Given the description of an element on the screen output the (x, y) to click on. 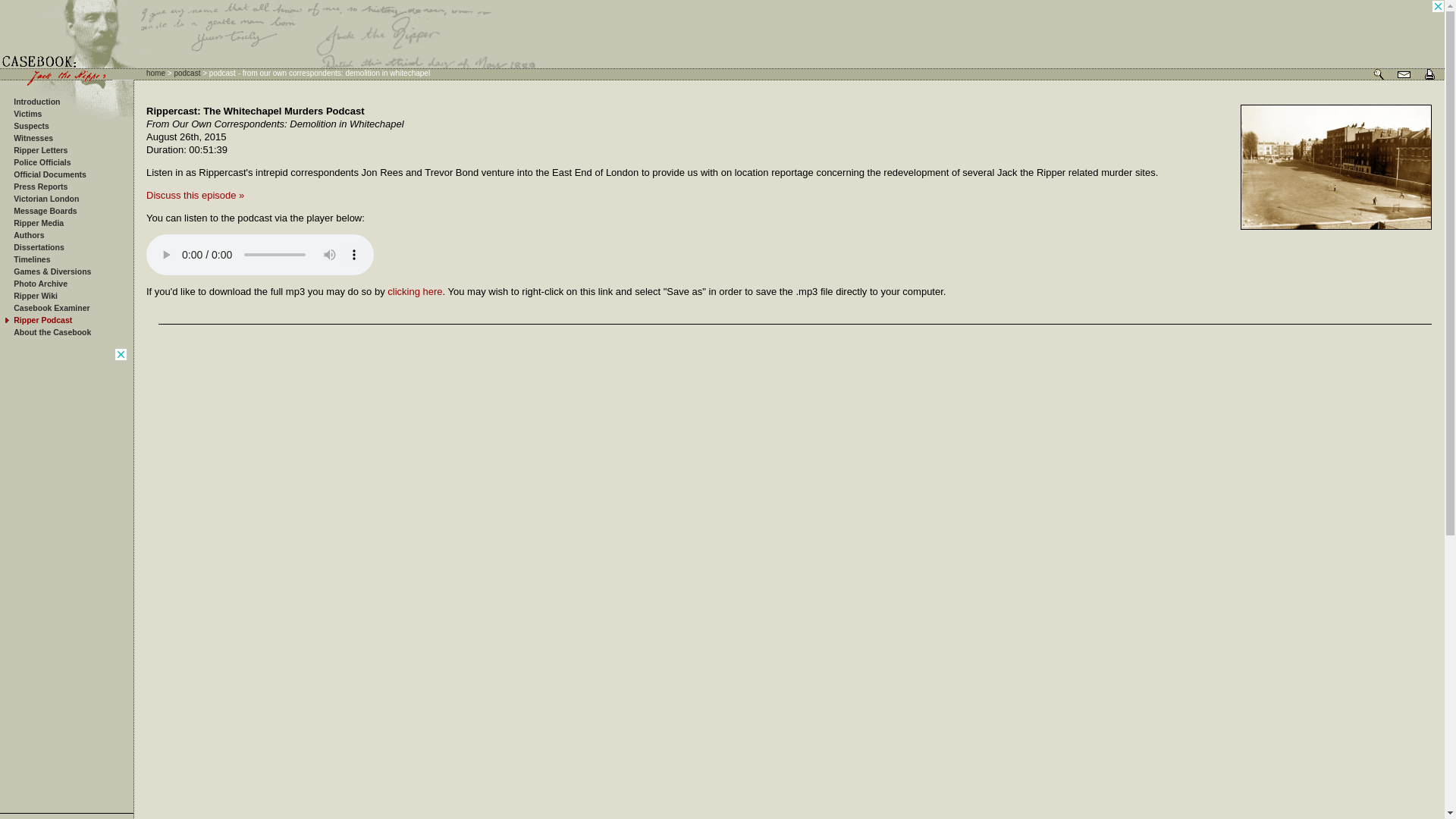
home (156, 72)
Ripper Media (38, 222)
Official Documents (49, 174)
Ripper Podcast (42, 319)
Witnesses (32, 137)
Ripper Wiki (35, 295)
Timelines (31, 258)
Police Officials (41, 162)
Introduction (36, 101)
Authors (28, 234)
